Given the description of an element on the screen output the (x, y) to click on. 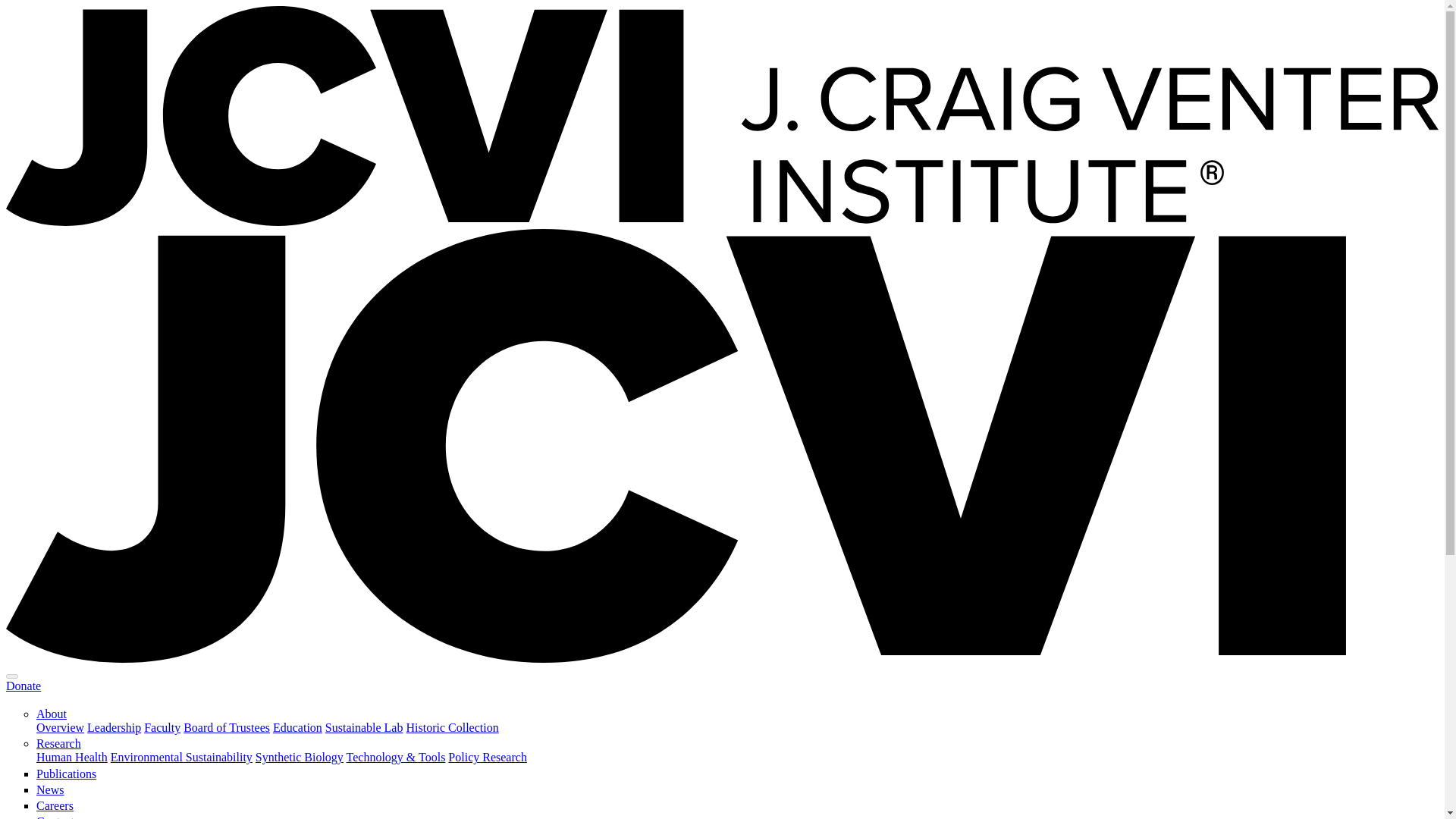
Careers (55, 805)
Research (58, 743)
Sustainable Lab (363, 727)
Human Health (71, 757)
Leadership (114, 727)
Environmental Sustainability (180, 757)
About (51, 713)
Education (297, 727)
Historic Collection (451, 727)
Donate (22, 685)
